Given the description of an element on the screen output the (x, y) to click on. 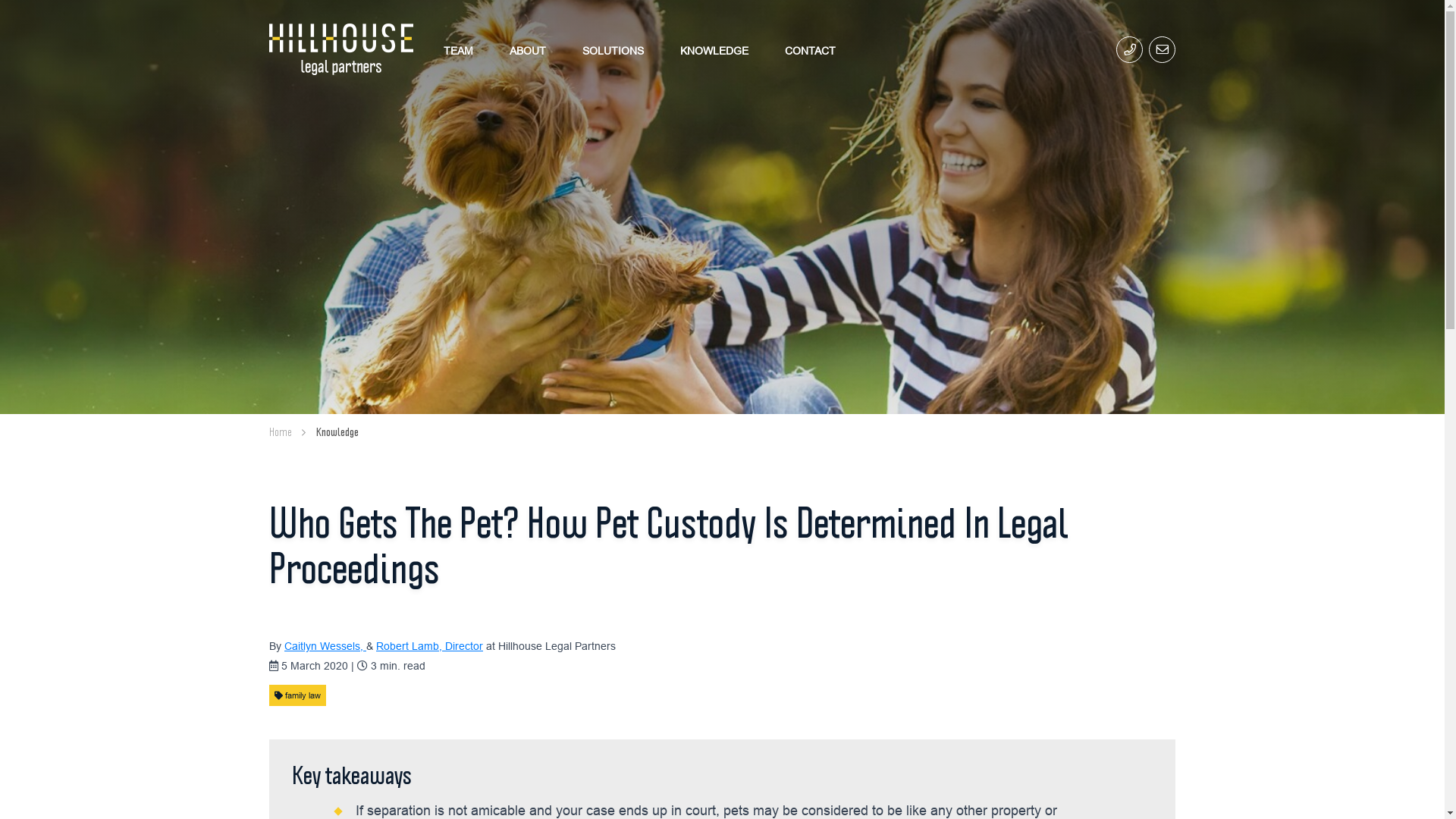
TEAM Element type: text (458, 49)
Home Element type: text (280, 432)
Caitlyn Wessels, Element type: text (325, 646)
SOLUTIONS Element type: text (613, 49)
CONTACT Element type: text (810, 49)
family law Element type: text (297, 695)
KNOWLEDGE Element type: text (713, 49)
Robert Lamb, Director Element type: text (429, 646)
Knowledge Element type: text (337, 432)
ABOUT Element type: text (527, 49)
